Given the description of an element on the screen output the (x, y) to click on. 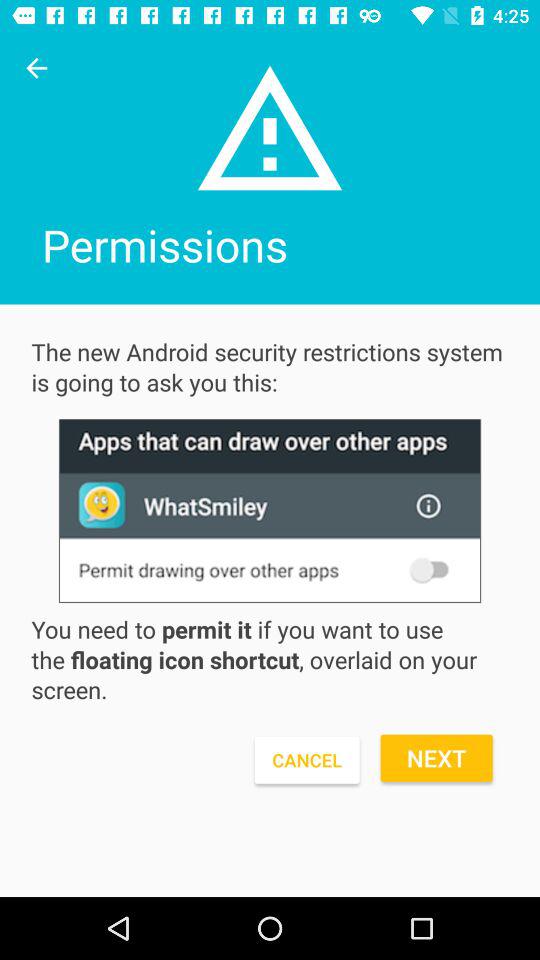
click previous arrow (36, 68)
